Given the description of an element on the screen output the (x, y) to click on. 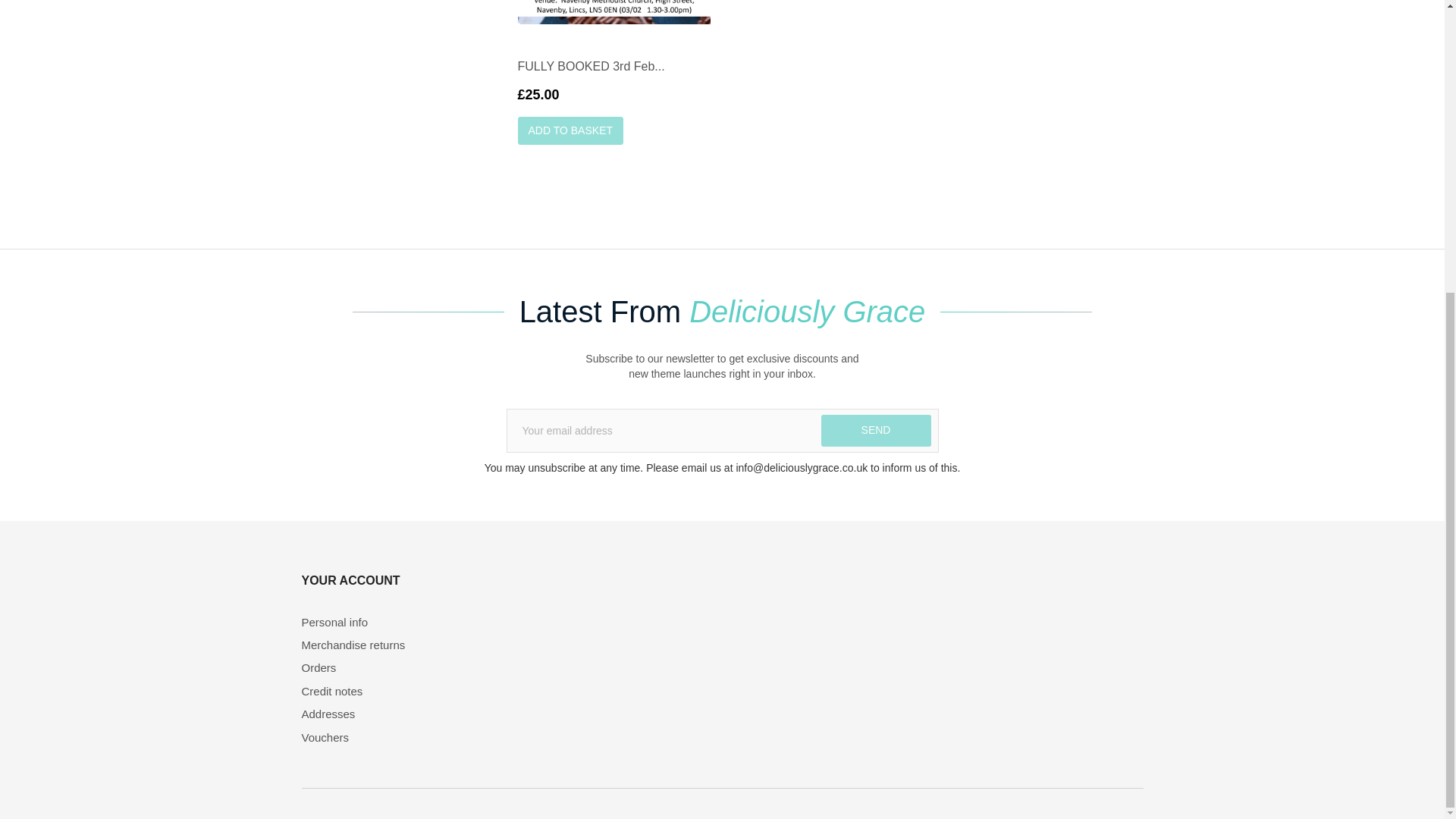
Orders (398, 667)
Vouchers (398, 737)
Send (875, 430)
Merchandise returns (398, 644)
Credit notes (398, 691)
Personal info (398, 621)
Addresses (398, 713)
